Given the description of an element on the screen output the (x, y) to click on. 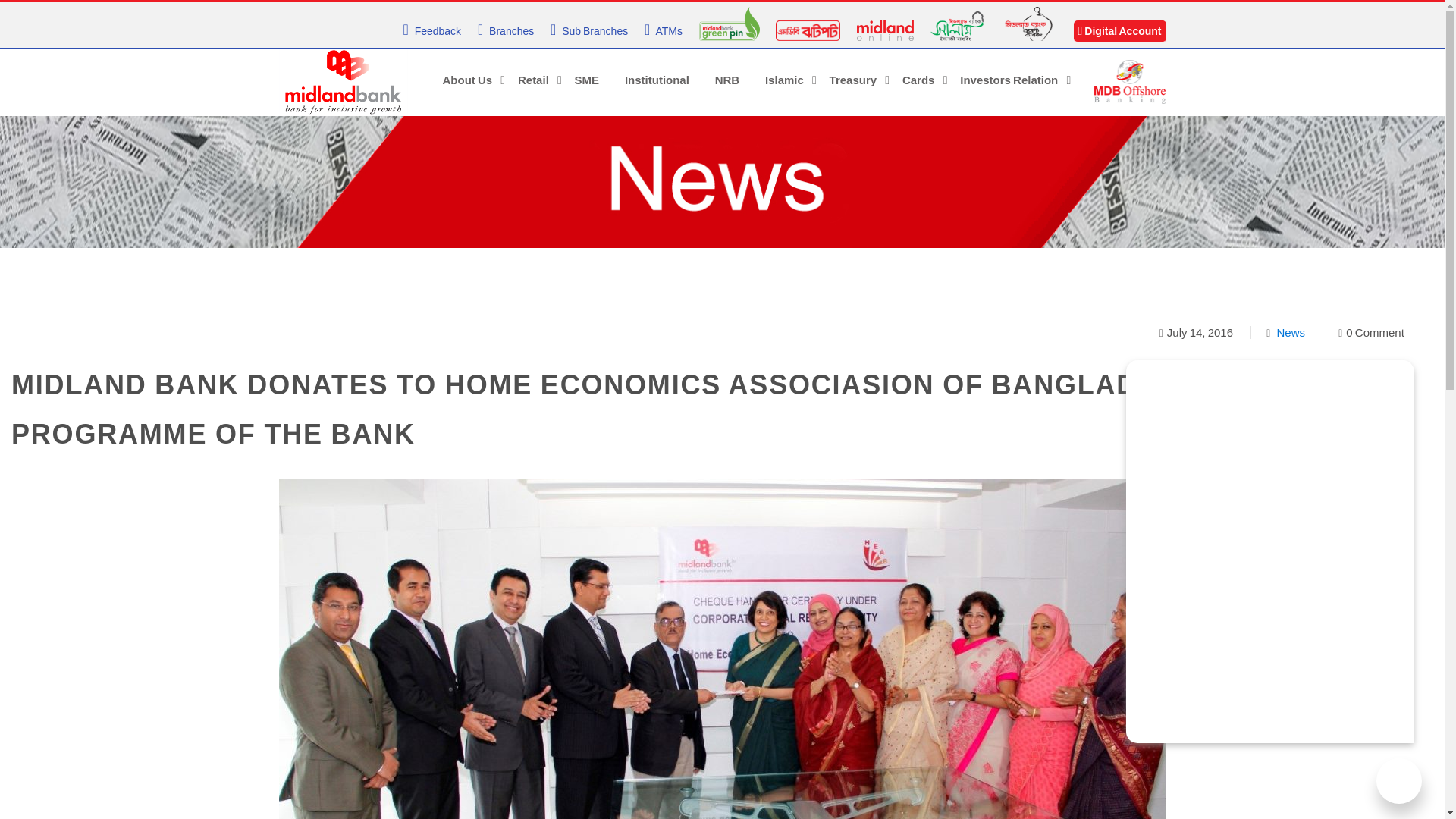
Green PIN (729, 22)
Midland Bank PLC. -  (343, 80)
Offshore Banking (1129, 80)
midland online (885, 29)
MDB Jhotpot (808, 29)
Midland Bank Saalam (957, 24)
Midland Bank Agent Banking (1028, 22)
